Given the description of an element on the screen output the (x, y) to click on. 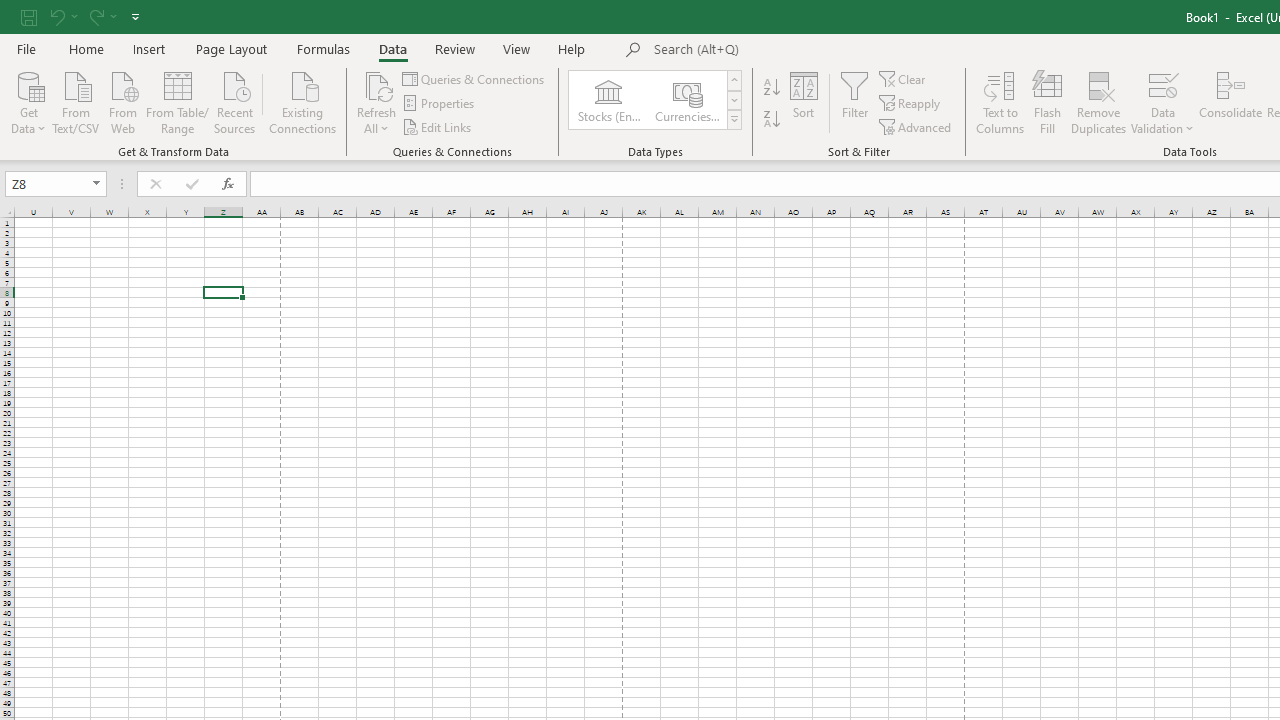
AutomationID: ConvertToLinkedEntity (655, 99)
From Table/Range (177, 101)
Filter (854, 102)
Home (86, 48)
Currencies (English) (686, 100)
File Tab (26, 48)
Advanced... (916, 126)
Get Data (28, 101)
Edit Links (438, 126)
Help (572, 48)
Data Validation... (1162, 84)
Refresh All (376, 102)
